Given the description of an element on the screen output the (x, y) to click on. 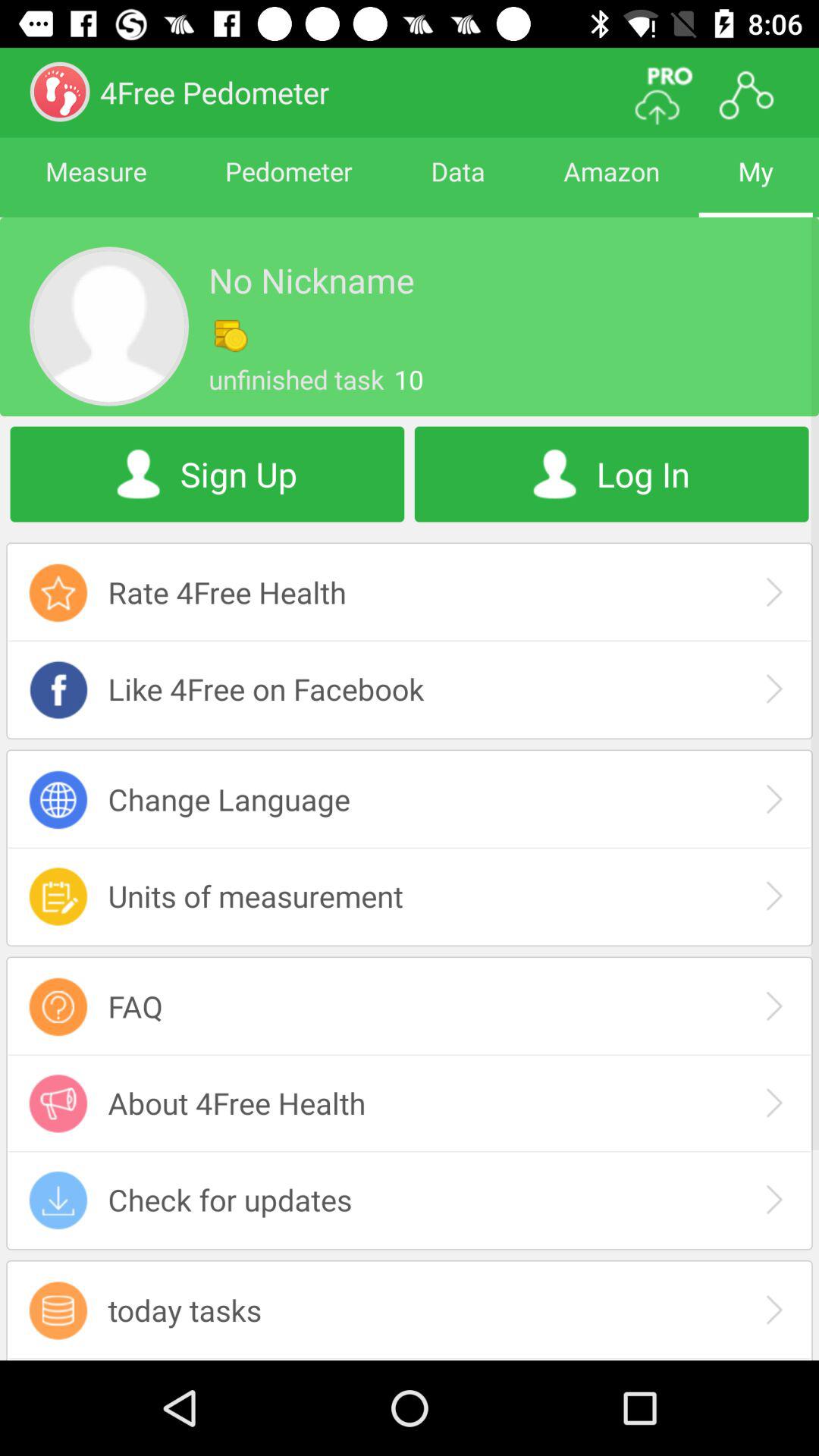
profil image (108, 326)
